Given the description of an element on the screen output the (x, y) to click on. 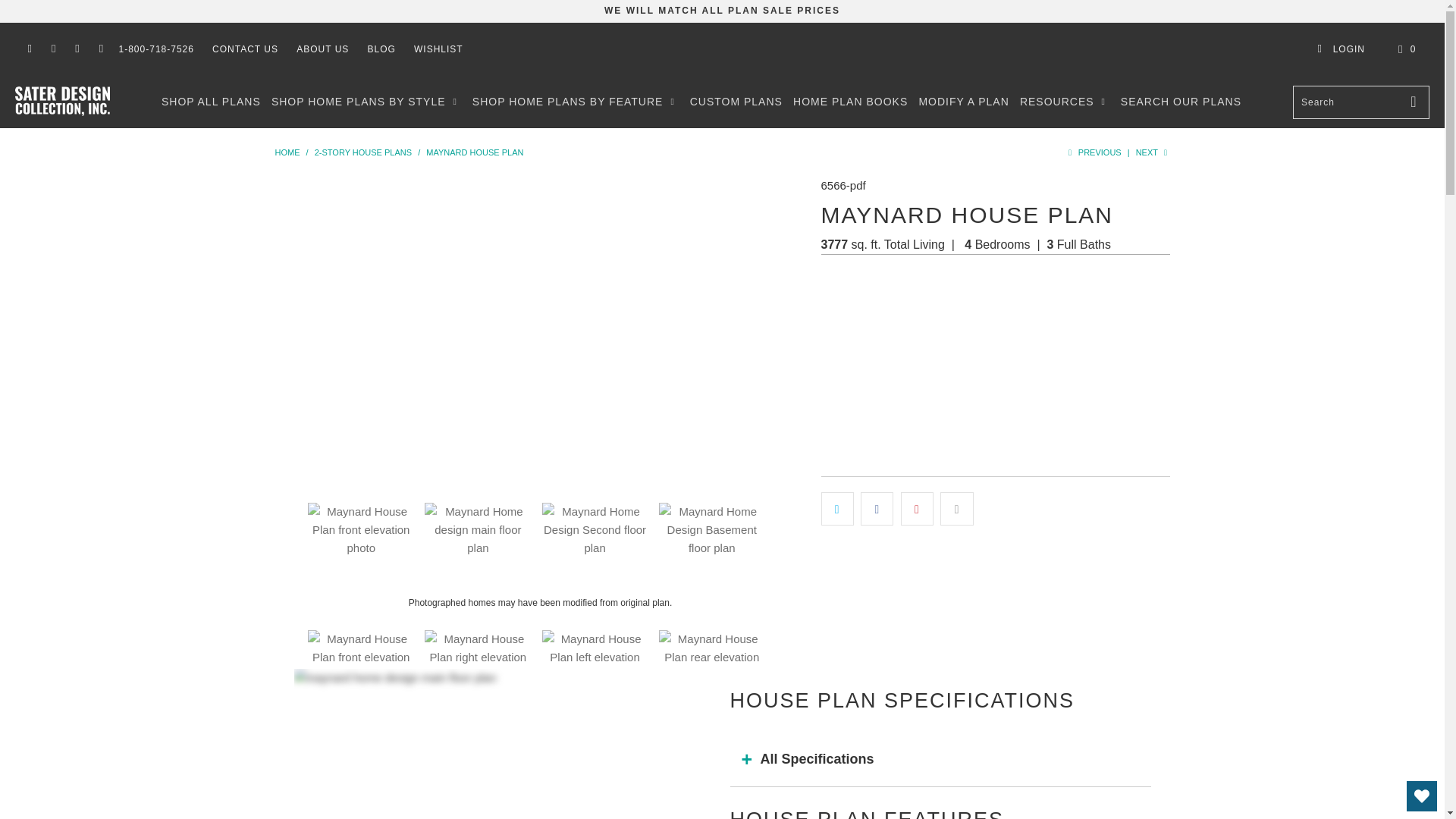
Next (1152, 152)
My Account  (1340, 49)
Sater Design Collection on Pinterest (75, 49)
Sater Design Collection (287, 152)
Sater Design Collection on YouTube (52, 49)
2-Story House Plans (363, 152)
Previous (1092, 152)
Share this on Twitter (837, 508)
Sater Design Collection on Instagram (100, 49)
Share this on Pinterest (917, 508)
